Given the description of an element on the screen output the (x, y) to click on. 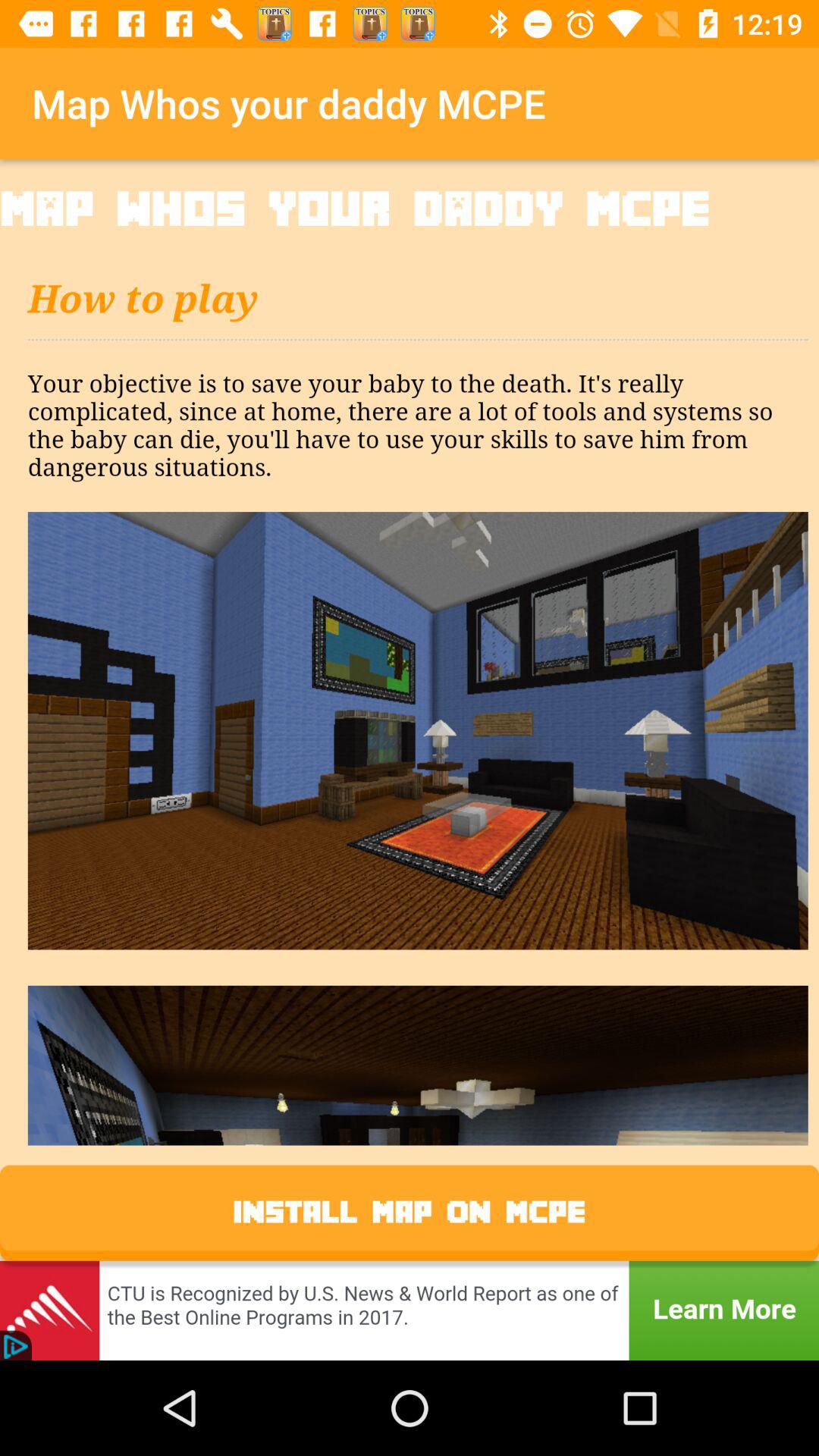
open advertisement (409, 1310)
